Given the description of an element on the screen output the (x, y) to click on. 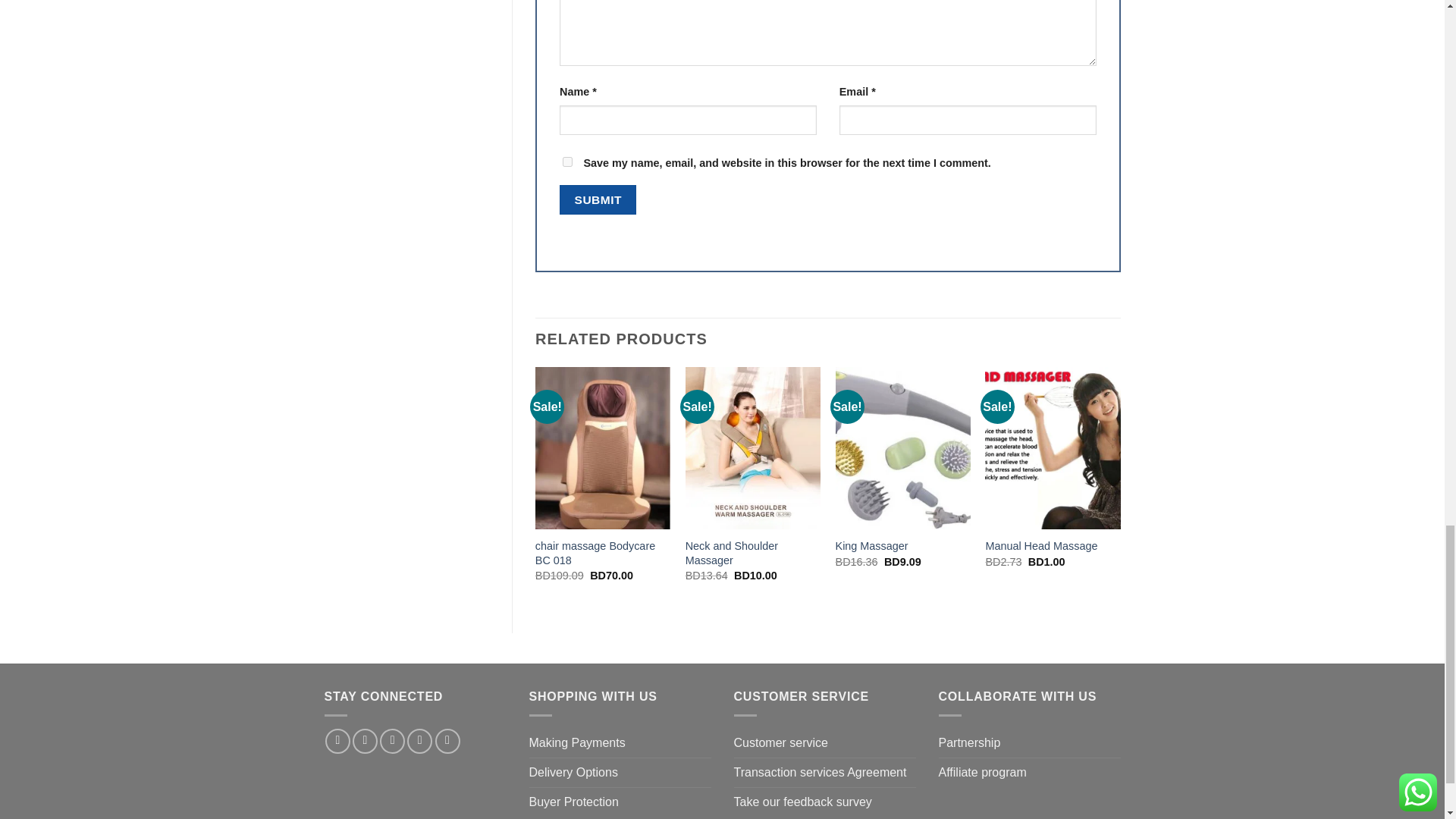
yes (567, 162)
Submit (597, 199)
